Given the description of an element on the screen output the (x, y) to click on. 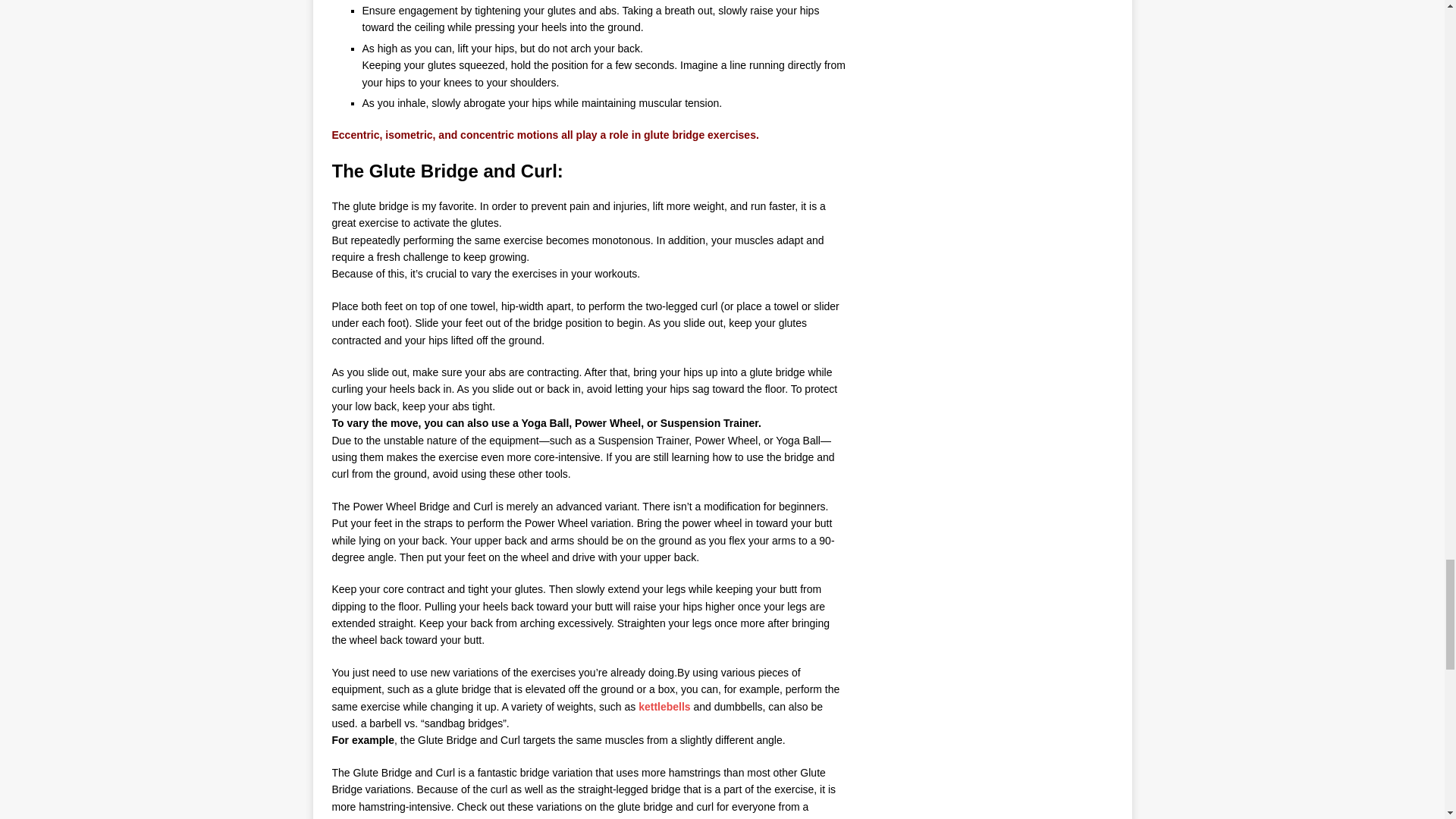
kettlebells (664, 706)
